Given the description of an element on the screen output the (x, y) to click on. 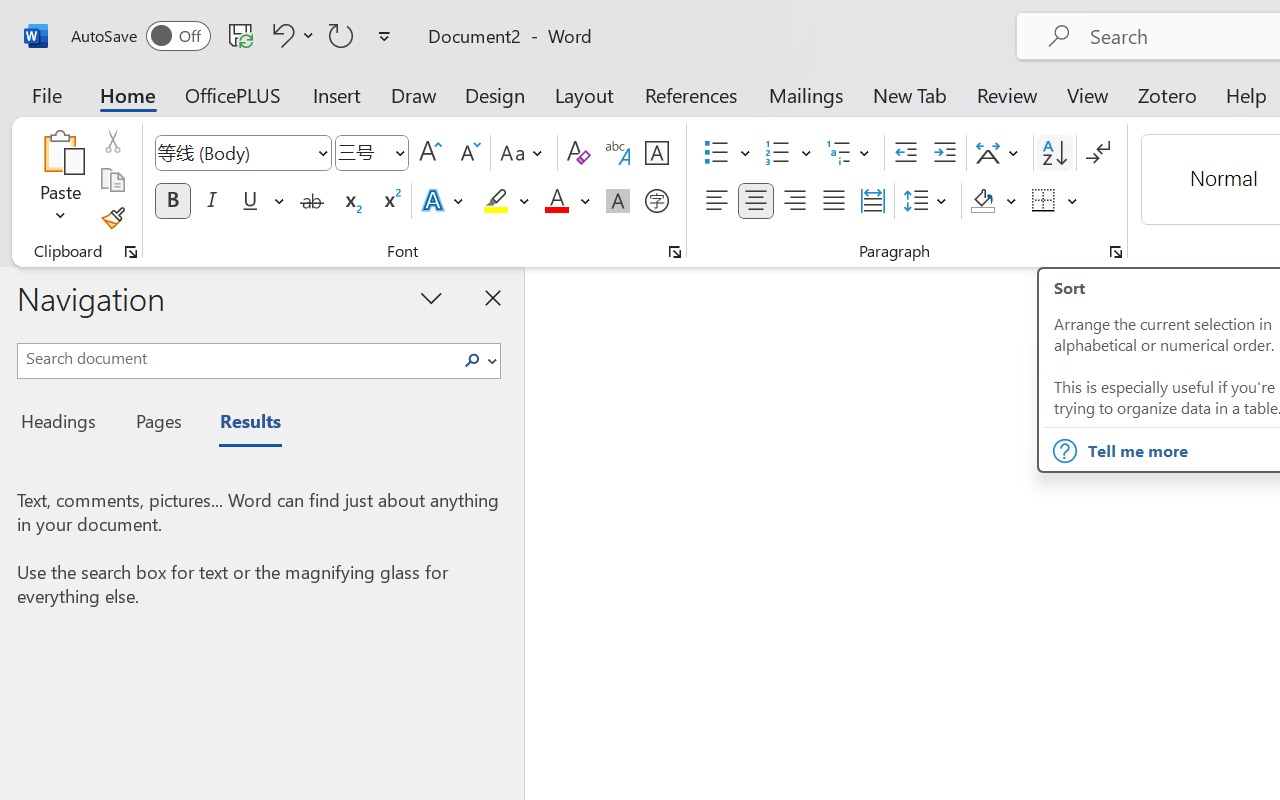
OfficePLUS (233, 94)
Format Painter (112, 218)
Open (399, 152)
Borders (1044, 201)
Underline (261, 201)
Font Size (362, 152)
Design (495, 94)
Distributed (872, 201)
Sort... (1054, 153)
Shrink Font (468, 153)
Font Color Red (556, 201)
Cut (112, 141)
Font... (675, 252)
Underline (250, 201)
